Given the description of an element on the screen output the (x, y) to click on. 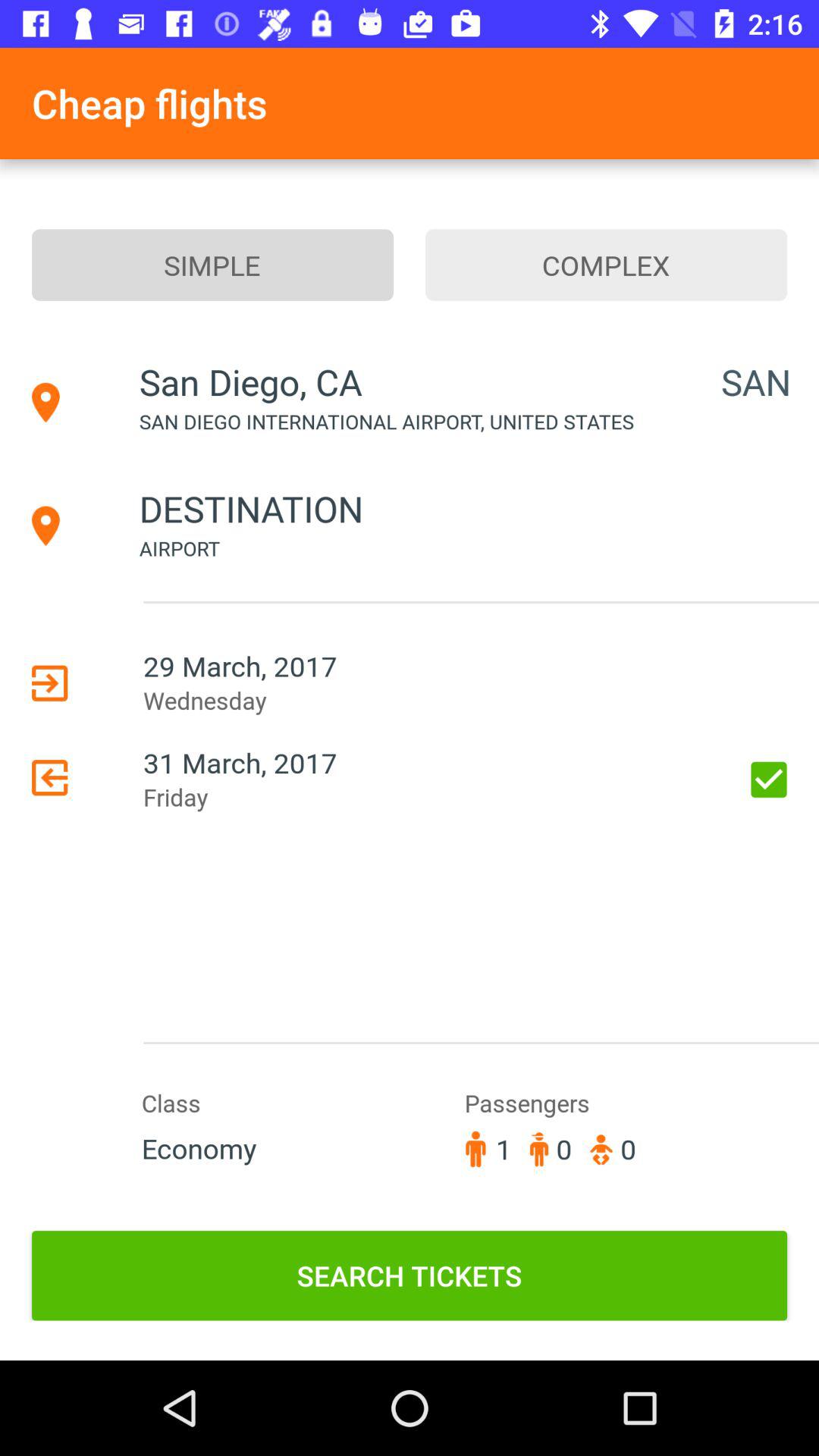
open item next to the 31 march, 2017 icon (768, 779)
